Given the description of an element on the screen output the (x, y) to click on. 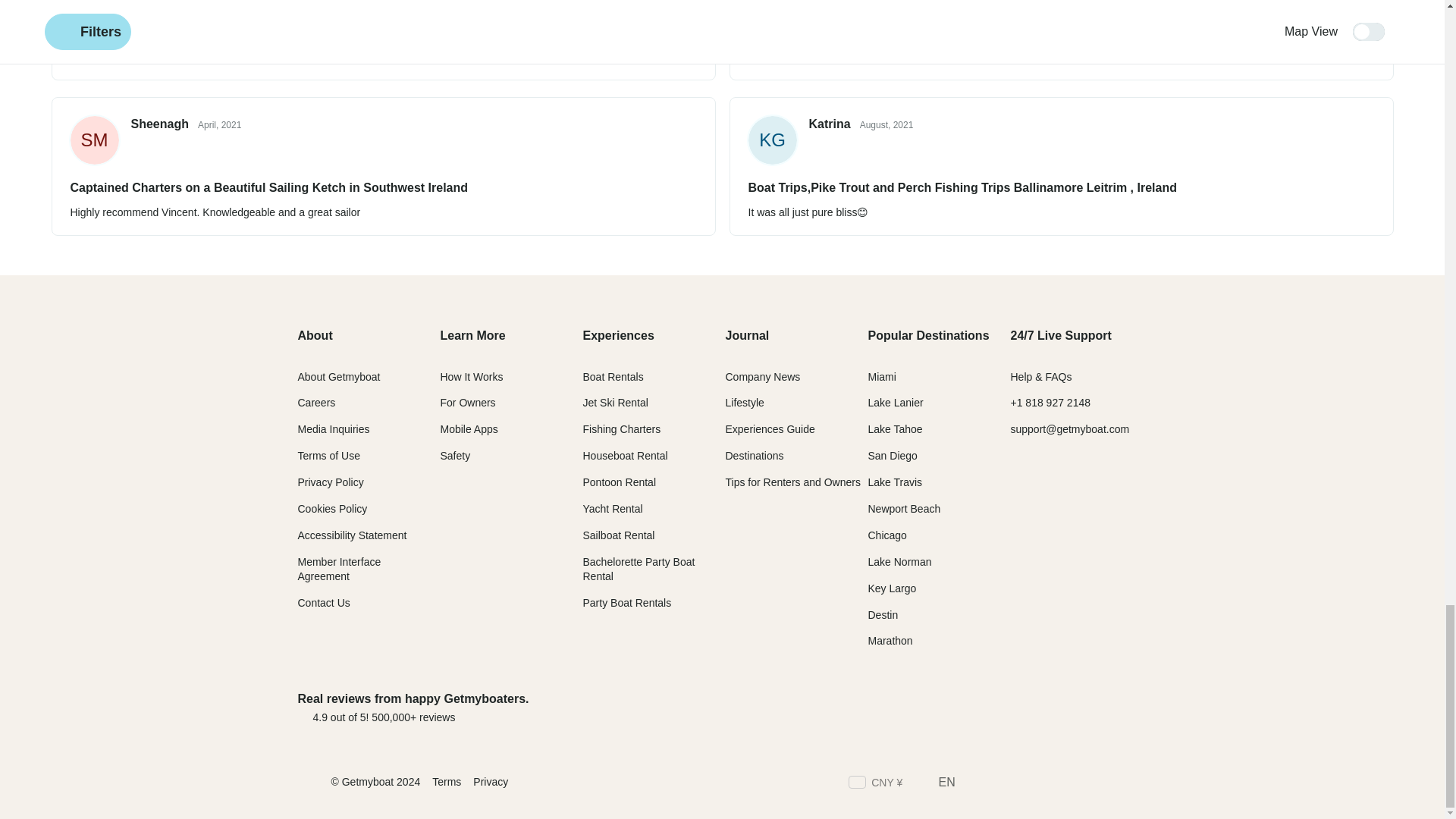
Get it on Google Play (1096, 707)
Download on the App Store (977, 707)
Facebook (975, 784)
